Given the description of an element on the screen output the (x, y) to click on. 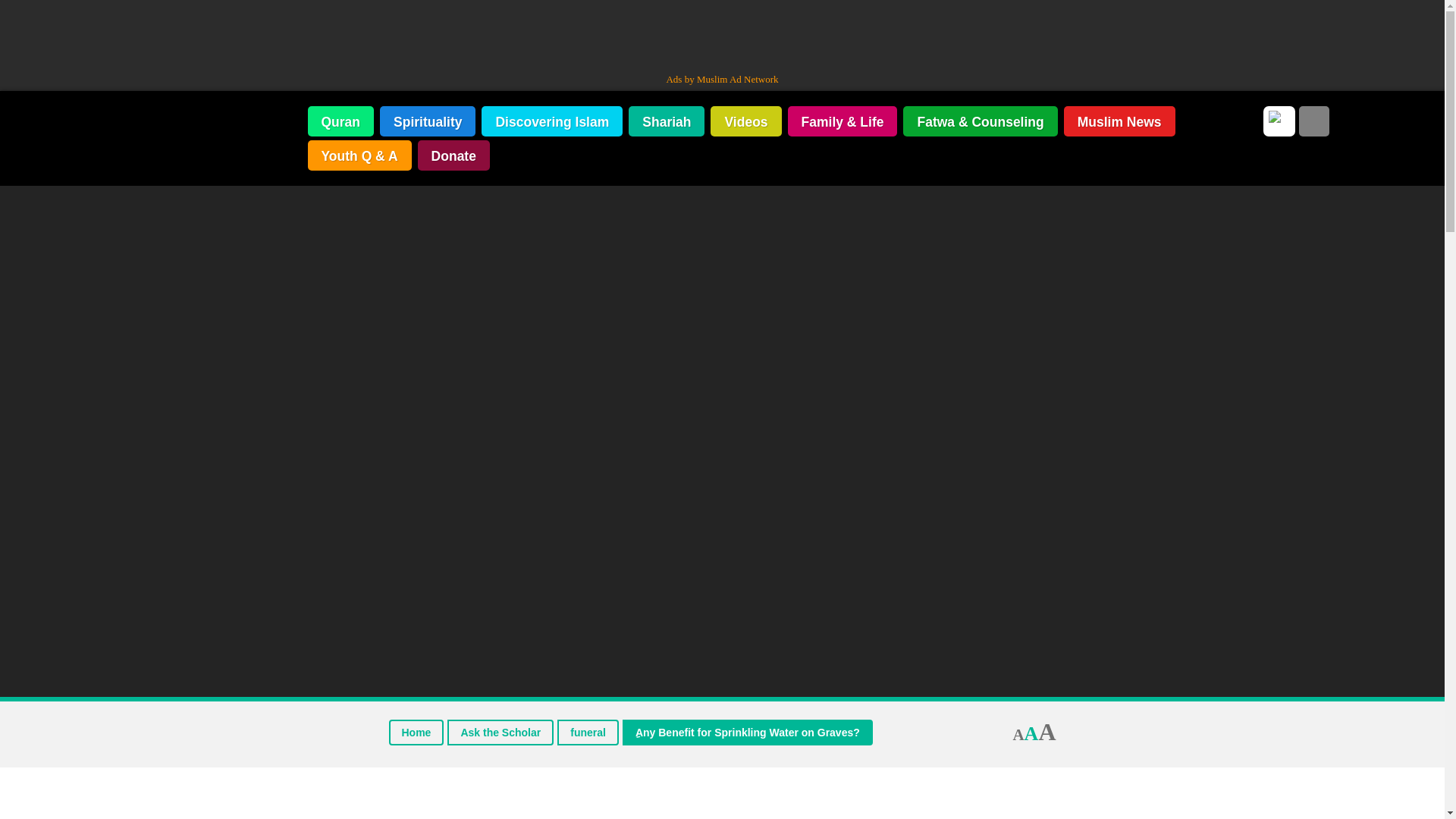
Discovering Islam (552, 121)
Shariah (666, 121)
Search (1312, 121)
Donate (453, 155)
Muslim News (1119, 121)
Search (1312, 121)
Ads by Muslim Ad Network (721, 79)
Home (416, 732)
Quran (340, 121)
Ask the Scholar (499, 732)
Videos (745, 121)
Home (416, 732)
funeral (587, 732)
Spirituality (428, 121)
About Islam (208, 132)
